Given the description of an element on the screen output the (x, y) to click on. 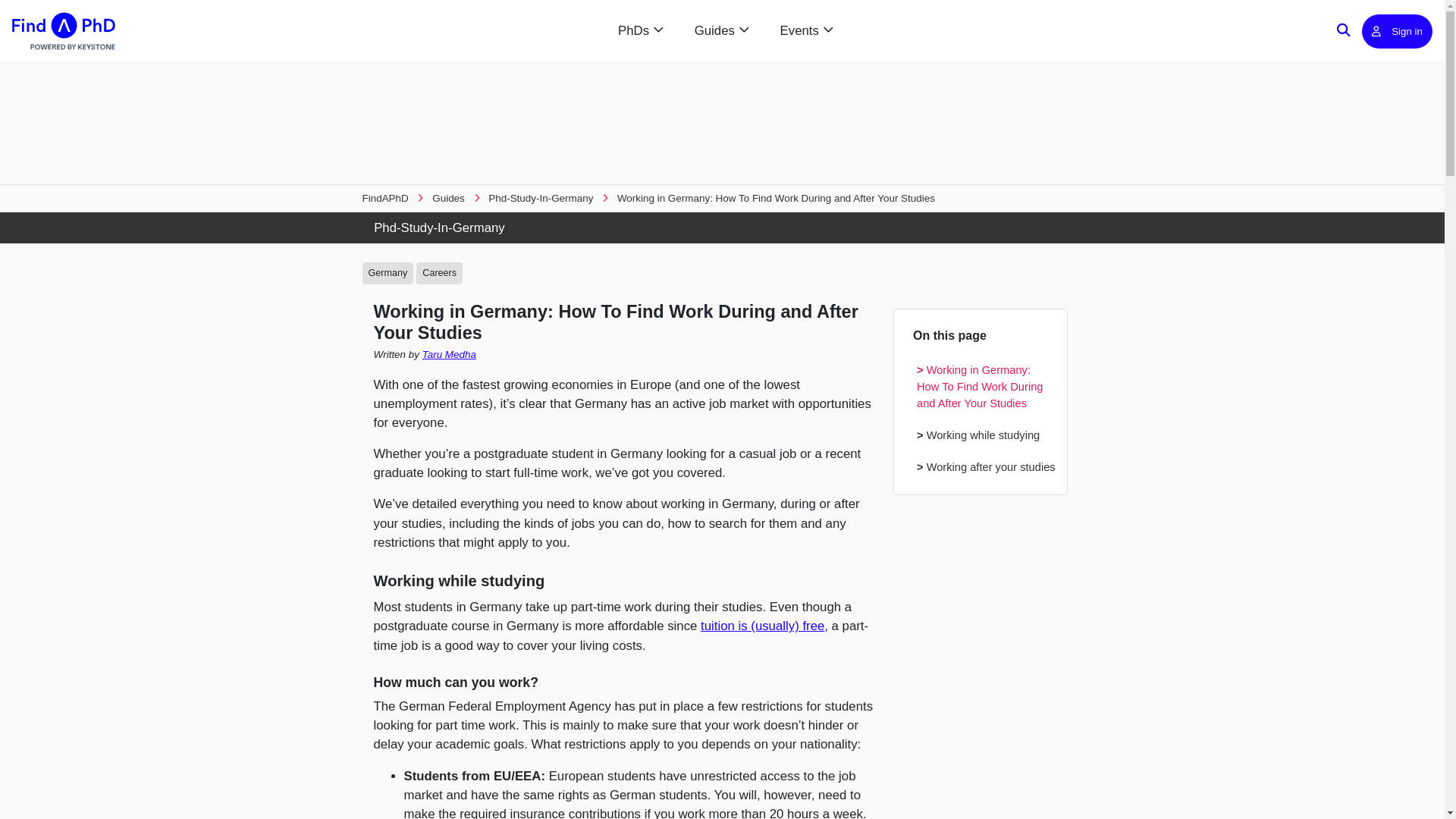
FindAPhD.com (63, 31)
FindAPhD (385, 197)
Phd-Study-In-Germany (539, 197)
Go to Phd-Study-In-Germany (722, 227)
Guides (448, 197)
